Given the description of an element on the screen output the (x, y) to click on. 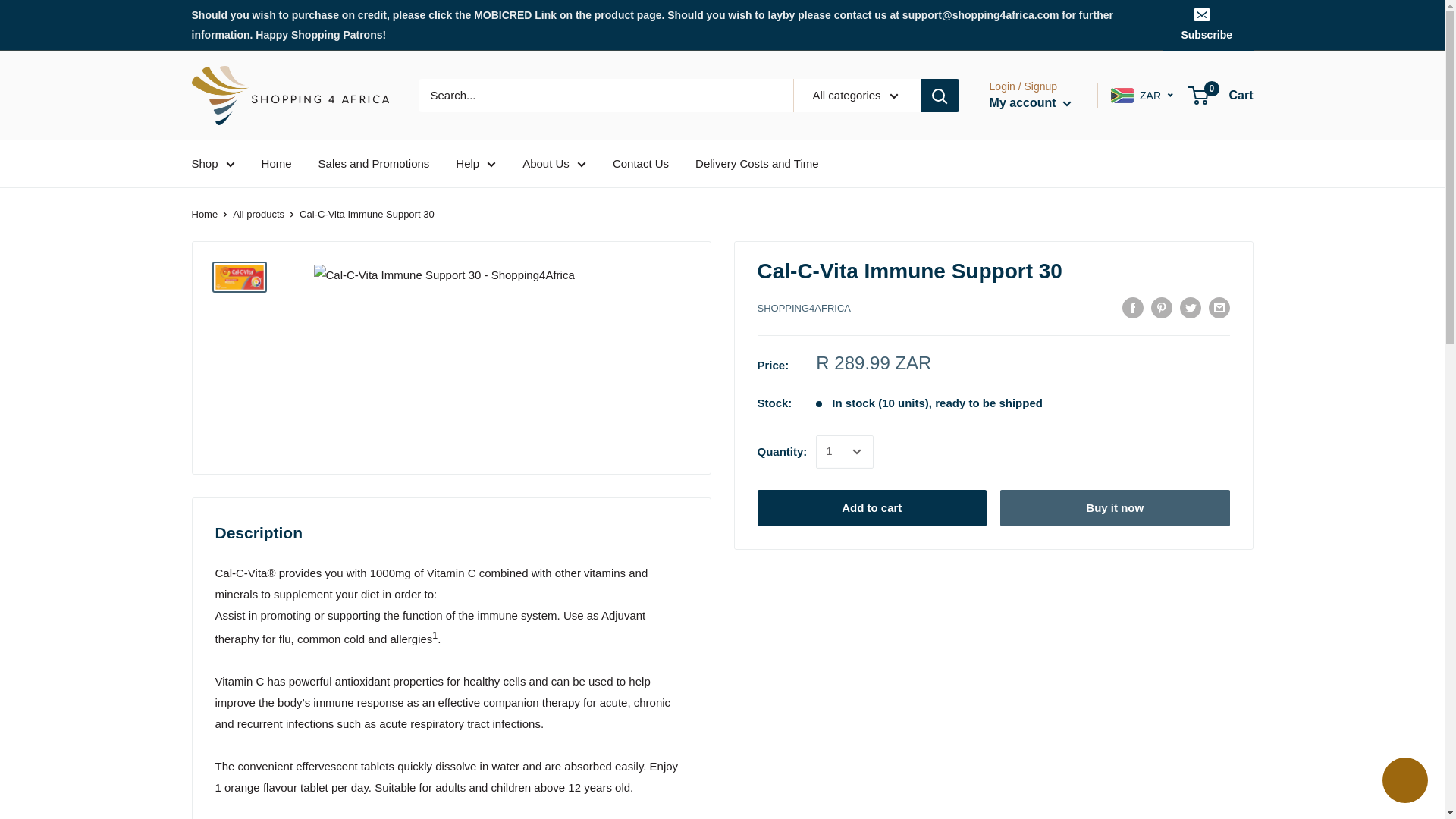
Subscribe (1207, 24)
Shopify online store chat (1404, 781)
